Given the description of an element on the screen output the (x, y) to click on. 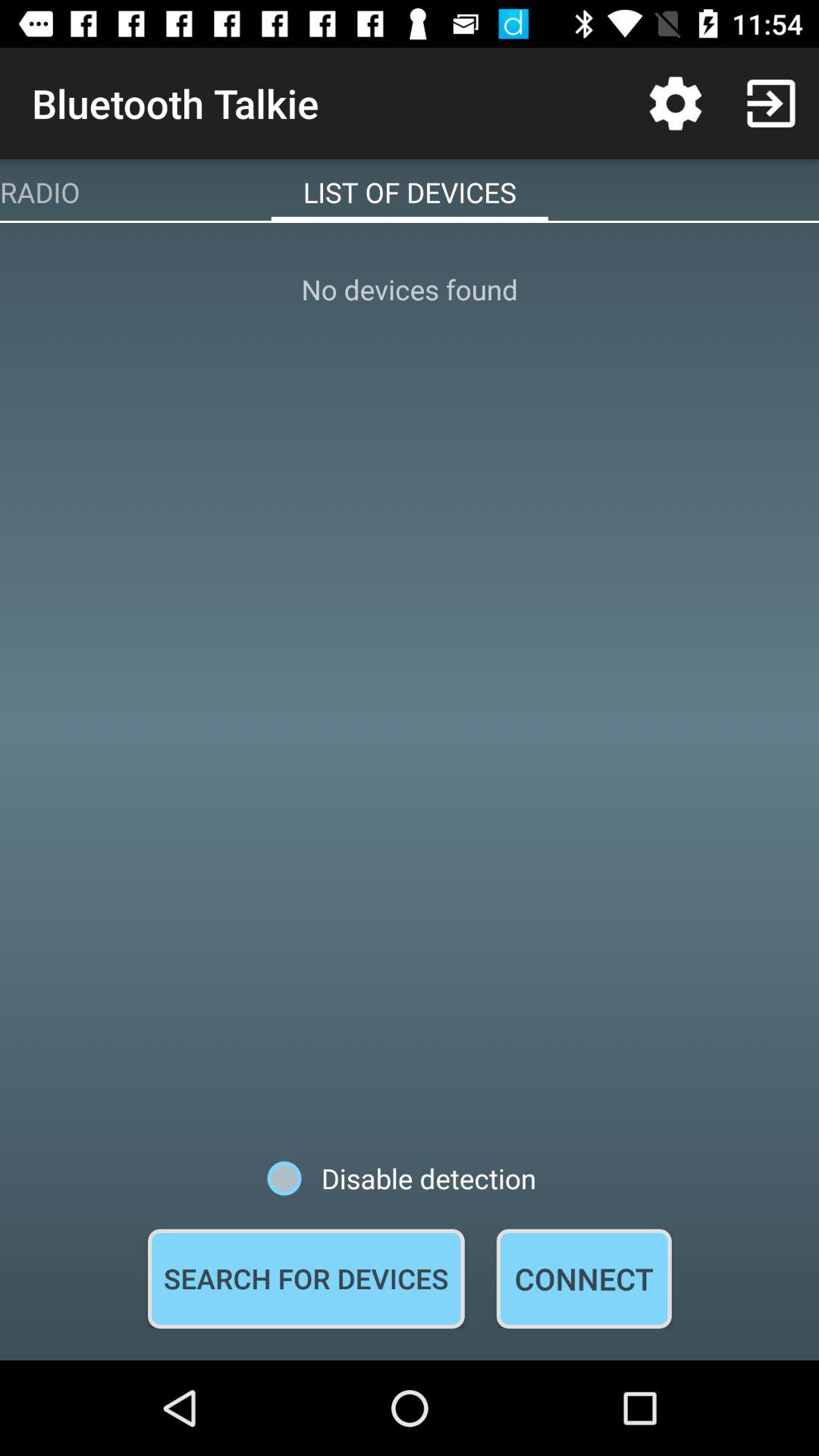
press icon to the left of the connect icon (305, 1278)
